Given the description of an element on the screen output the (x, y) to click on. 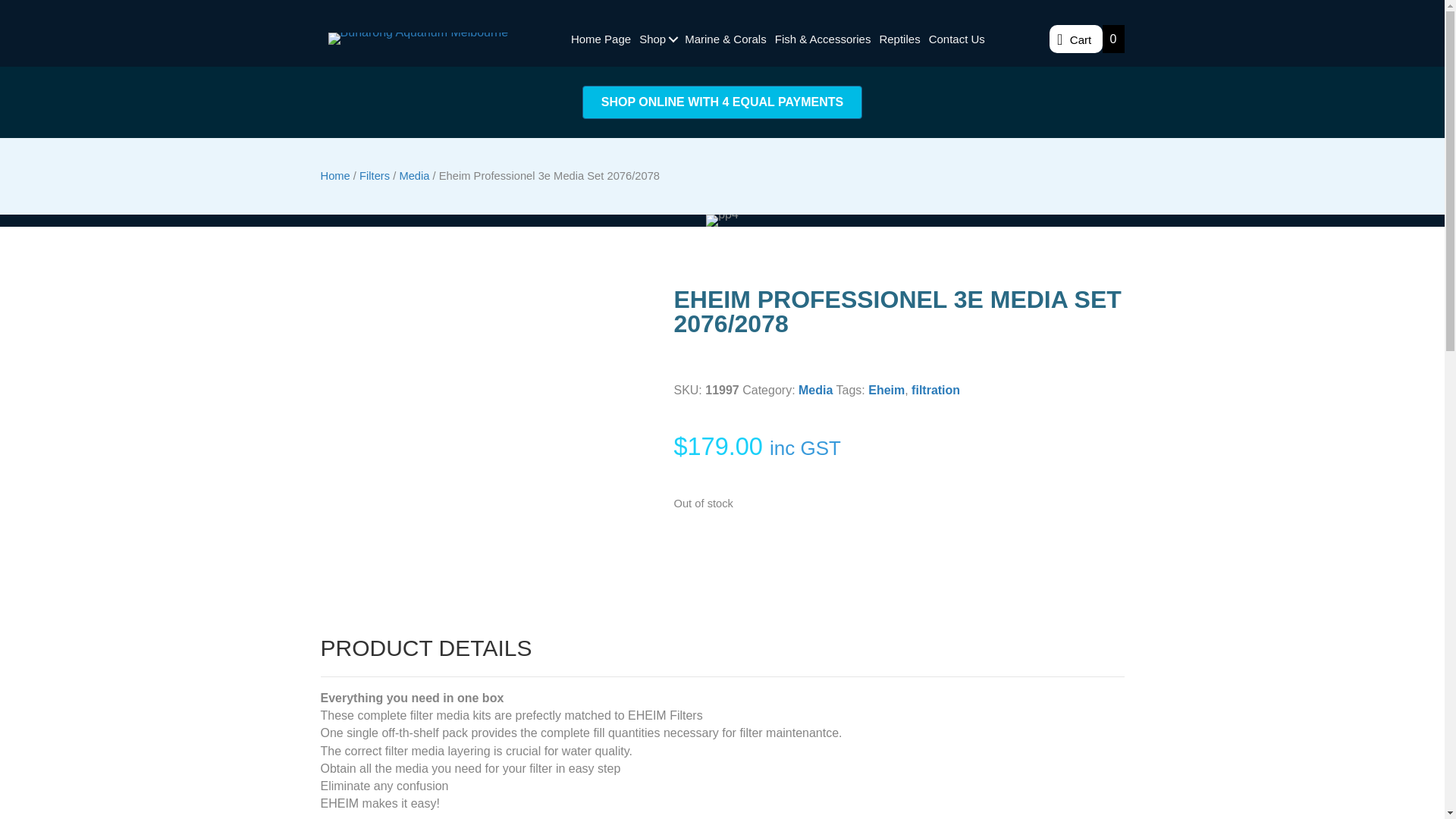
Shop (656, 39)
Reptiles (899, 39)
View your shopping cart (1075, 39)
Media (814, 390)
Filters (374, 175)
Contact Us (956, 39)
Cart (1075, 39)
Media (413, 175)
Home Page (600, 39)
bunarong-aquarium-melbourne-logo (418, 38)
